Given the description of an element on the screen output the (x, y) to click on. 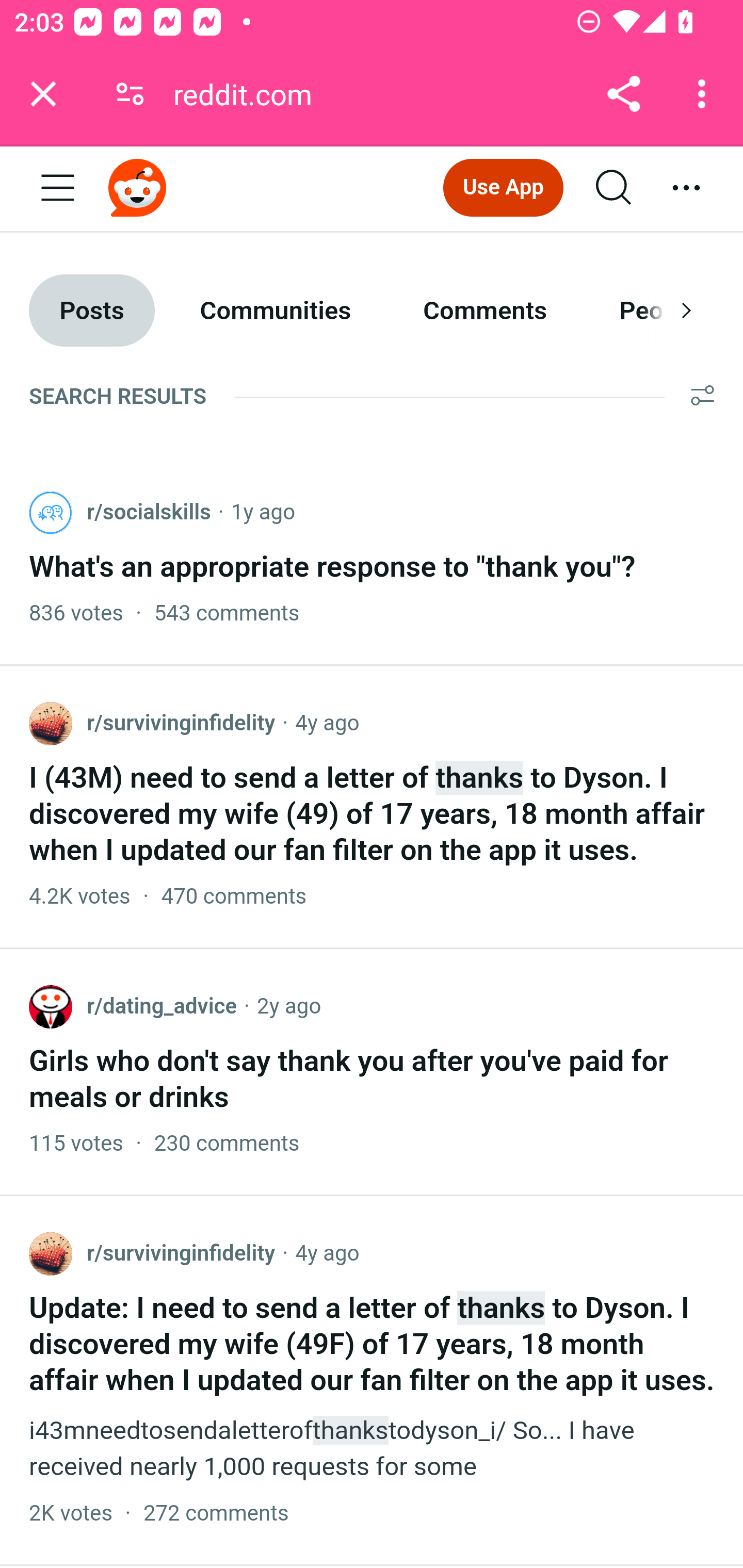
Close tab (43, 93)
Share (623, 93)
Customize and control Google Chrome (705, 93)
Connection is secure (129, 93)
reddit.com (249, 93)
Open menu (58, 188)
Expand search (614, 188)
Expand user menu (686, 188)
Home (137, 187)
Use App (502, 187)
Posts Posts Posts (91, 311)
Communities Communities Communities (274, 311)
Comments Comments Comments (484, 311)
People People People (651, 311)
What's an appropriate response to "thank you"? (371, 559)
What's an appropriate response to "thank you"? (332, 567)
